Given the description of an element on the screen output the (x, y) to click on. 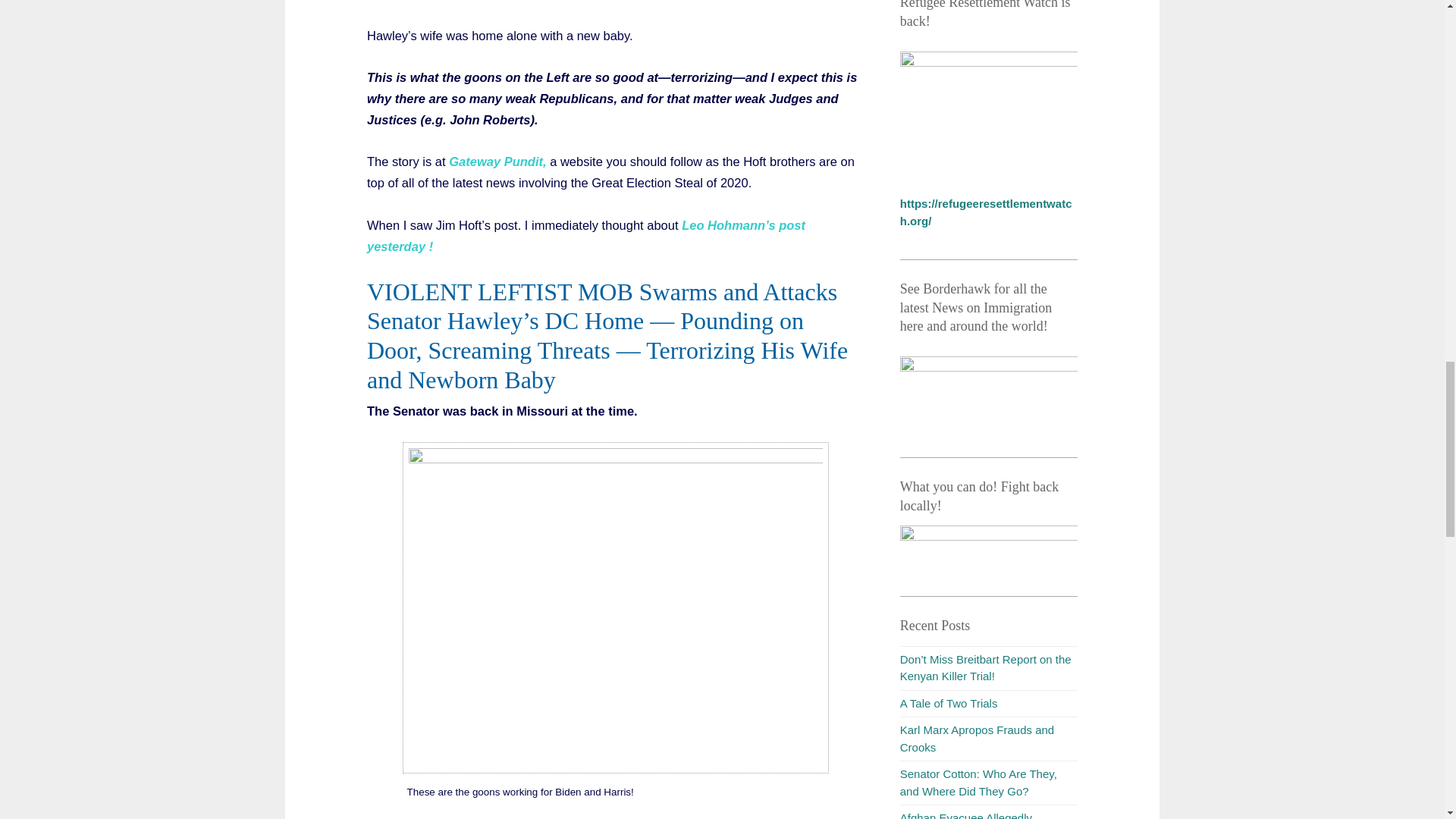
Senator Cotton: Who Are They, and Where Did They Go? (978, 782)
Karl Marx Apropos Frauds and Crooks (976, 738)
Gateway Pundit (494, 161)
A Tale of Two Trials (948, 703)
